Given the description of an element on the screen output the (x, y) to click on. 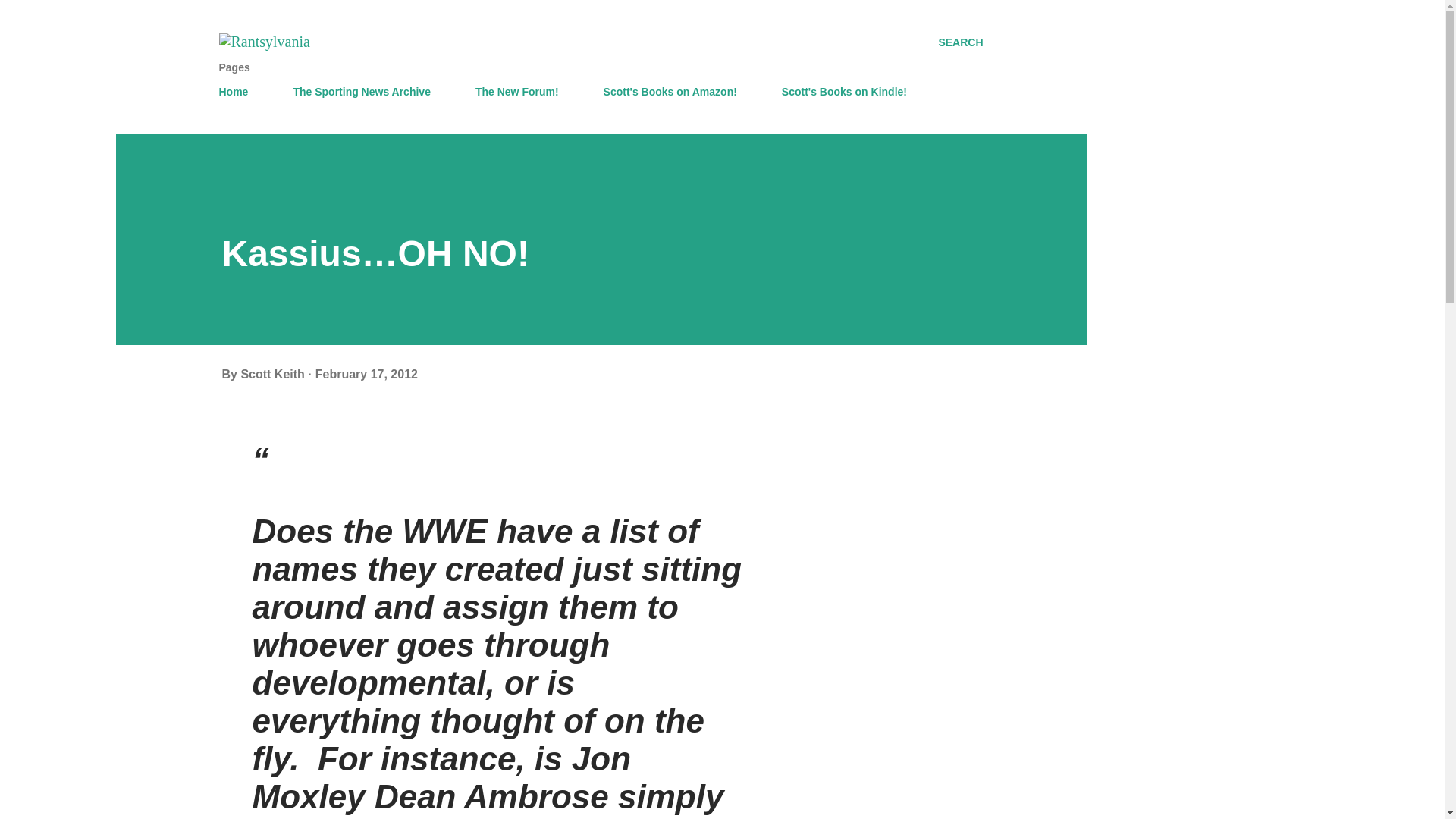
Scott's Books on Kindle! (844, 91)
author profile (273, 373)
SEARCH (959, 42)
The Sporting News Archive (361, 91)
Scott's Books on Amazon! (669, 91)
The New Forum! (516, 91)
Home (237, 91)
permanent link (366, 373)
Scott Keith (273, 373)
February 17, 2012 (366, 373)
